Given the description of an element on the screen output the (x, y) to click on. 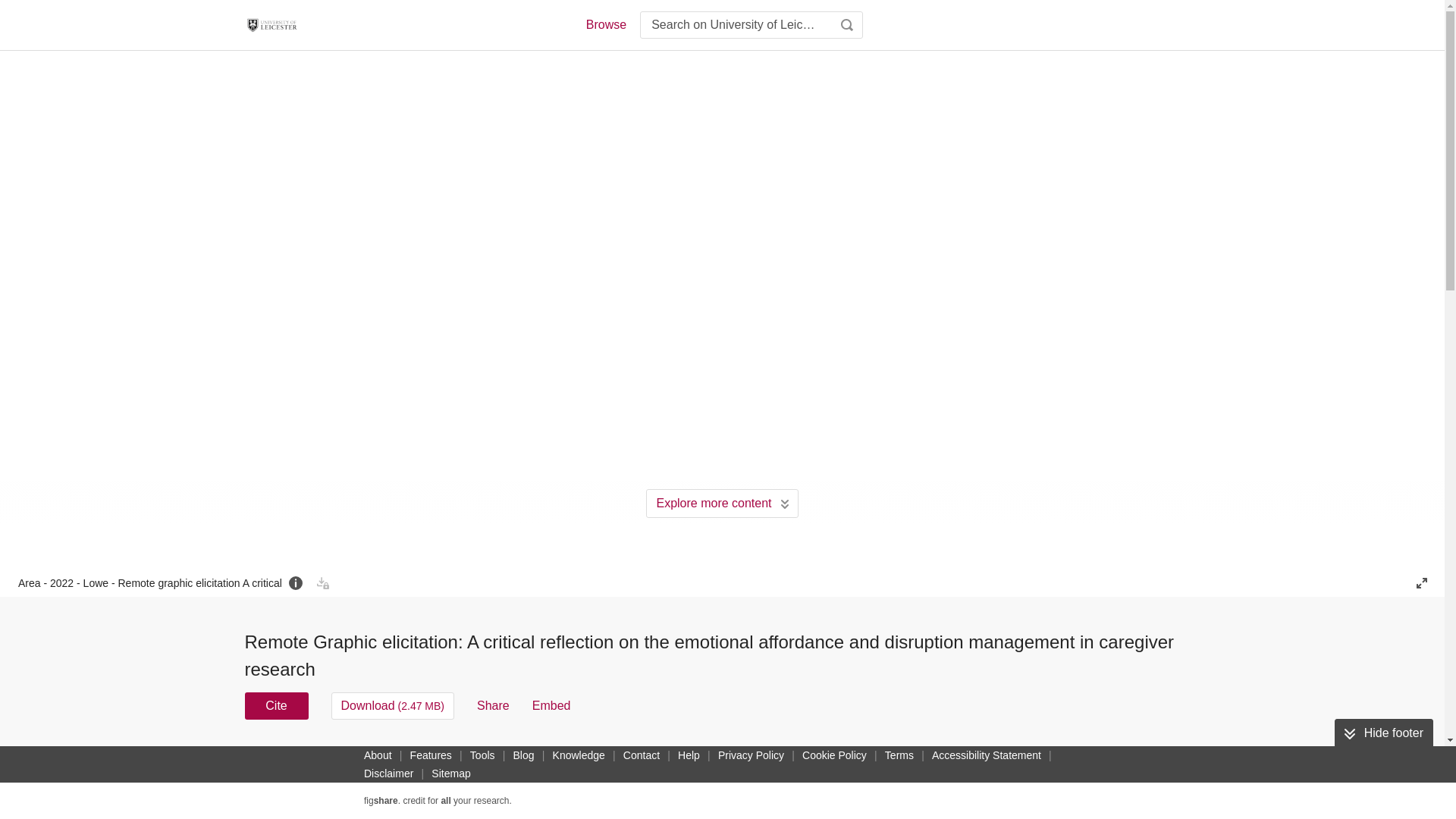
Contact (640, 755)
Cookie Policy (833, 755)
Help (688, 755)
Explore more content (721, 502)
Share (493, 705)
USAGE METRICS (976, 759)
Embed (551, 705)
Blog (523, 755)
About (377, 755)
Cite (275, 705)
Accessibility Statement (986, 755)
Knowledge (579, 755)
Privacy Policy (751, 755)
Browse (605, 24)
